Given the description of an element on the screen output the (x, y) to click on. 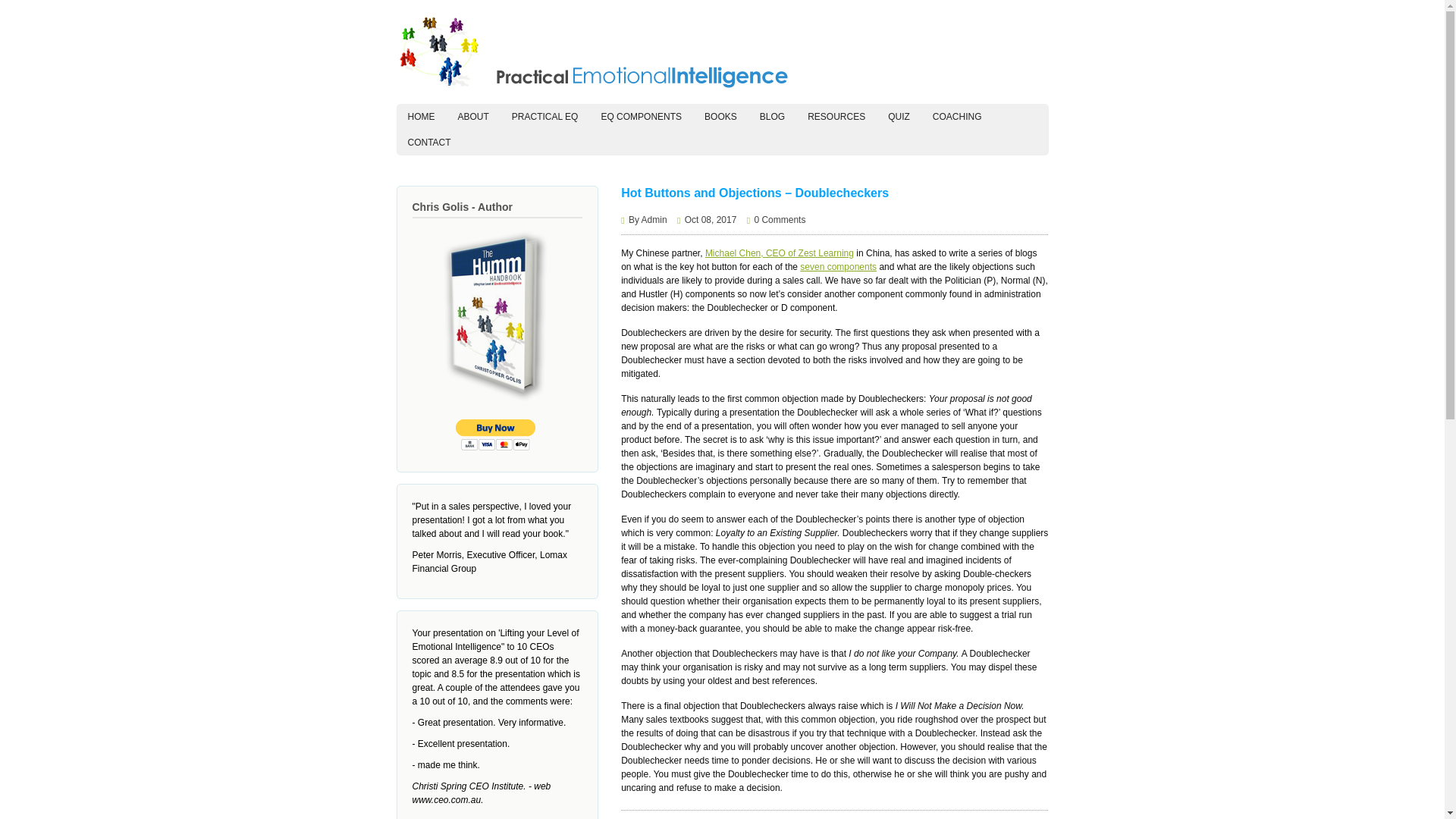
PRACTICAL EQ (544, 116)
EQ COMPONENTS (641, 116)
BLOG (772, 116)
ABOUT (472, 116)
COACHING (956, 116)
Michael Chen, CEO of Zest Learning (778, 253)
RESOURCES (836, 116)
seven components (837, 266)
BOOKS (720, 116)
CONTACT (428, 142)
QUIZ (898, 116)
